Given the description of an element on the screen output the (x, y) to click on. 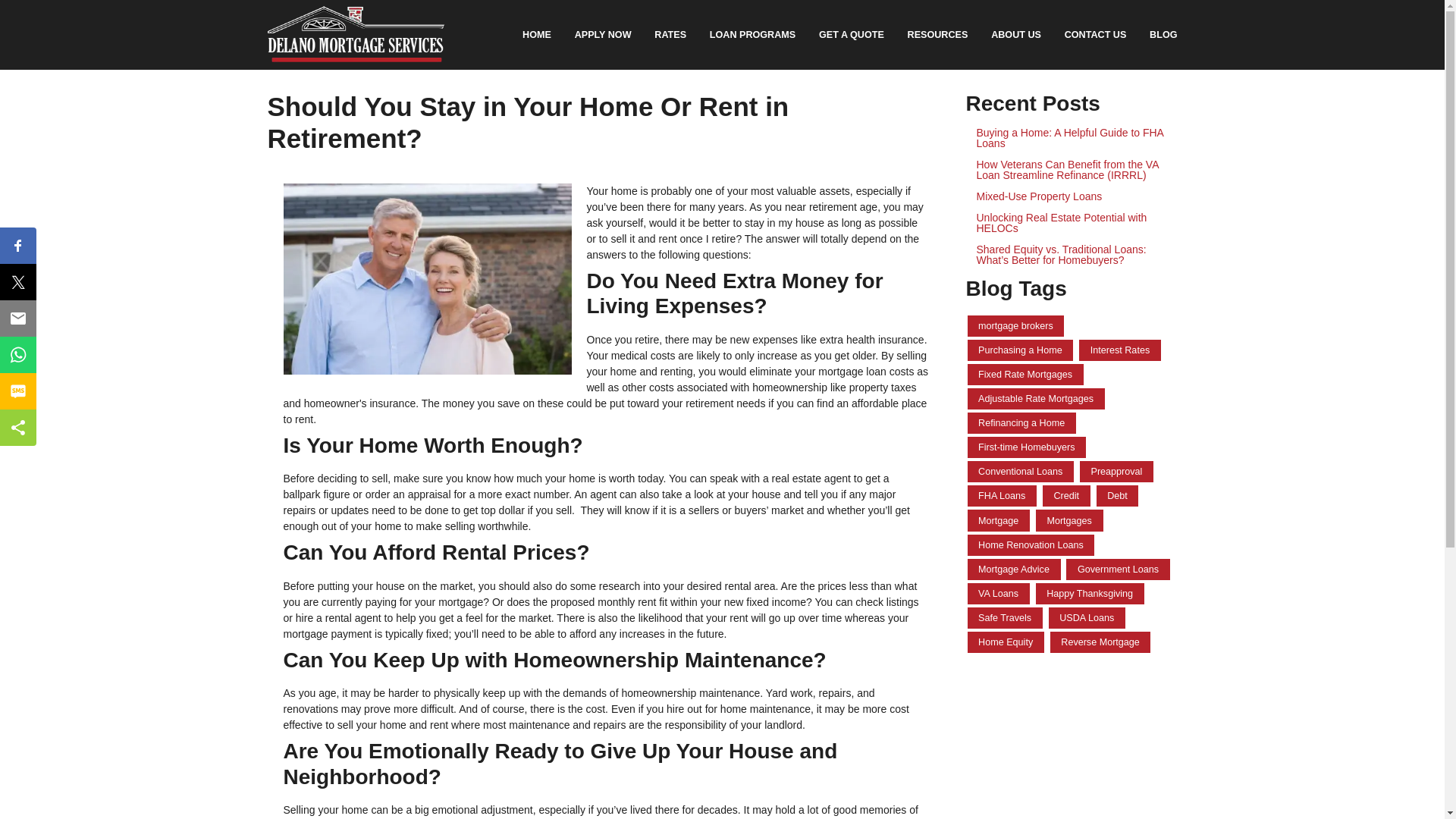
Buying a Home: A Helpful Guide to FHA Loans (1071, 137)
Unlocking Real Estate Potential with HELOCs (1071, 222)
LOAN PROGRAMS (751, 34)
RESOURCES (937, 34)
CONTACT US (1094, 34)
APPLY NOW (602, 34)
GET A QUOTE (852, 34)
ABOUT US (1015, 34)
Mixed-Use Property Loans (1071, 195)
